Given the description of an element on the screen output the (x, y) to click on. 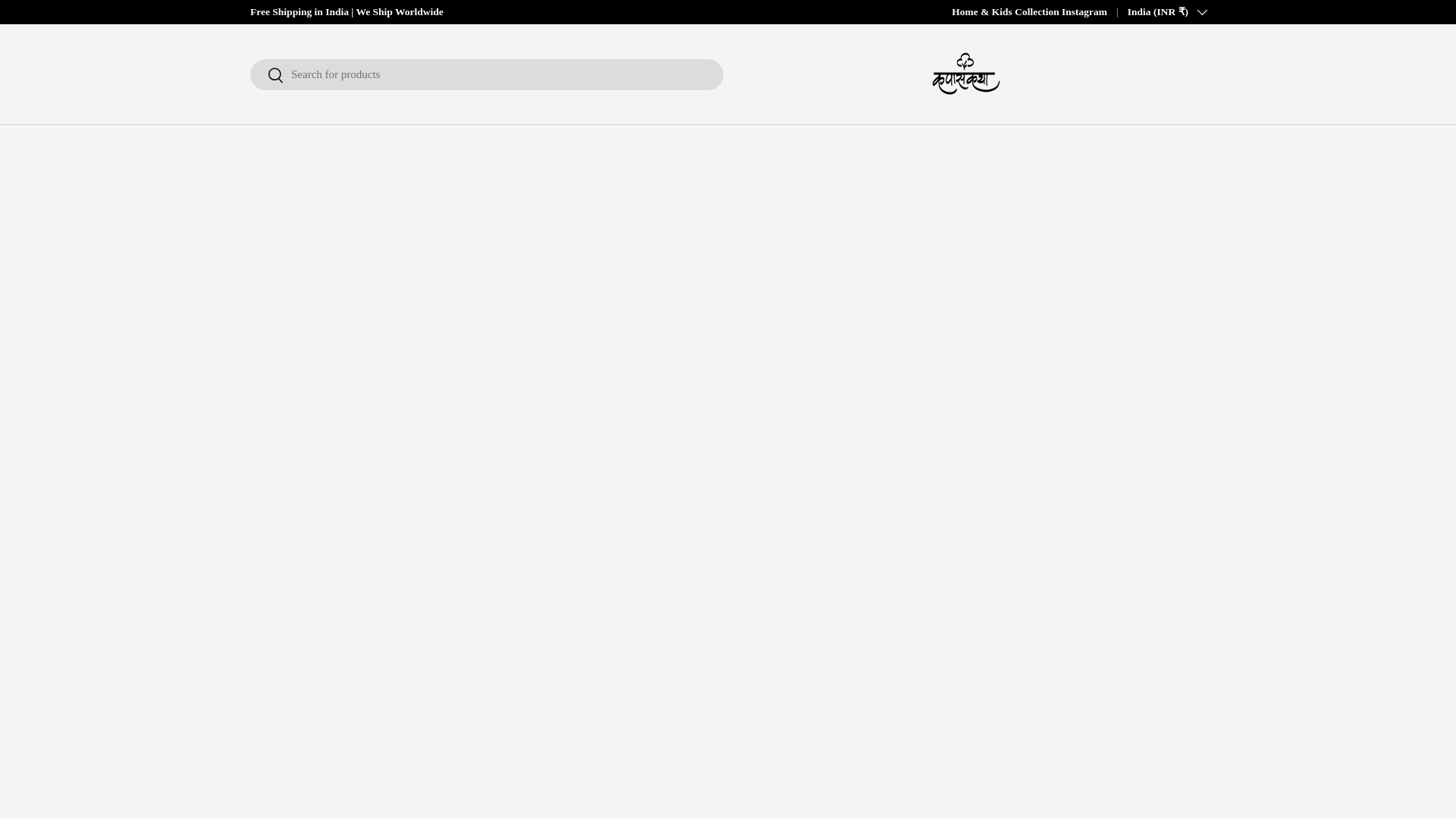
Search (266, 76)
Skip to content (69, 21)
